Given the description of an element on the screen output the (x, y) to click on. 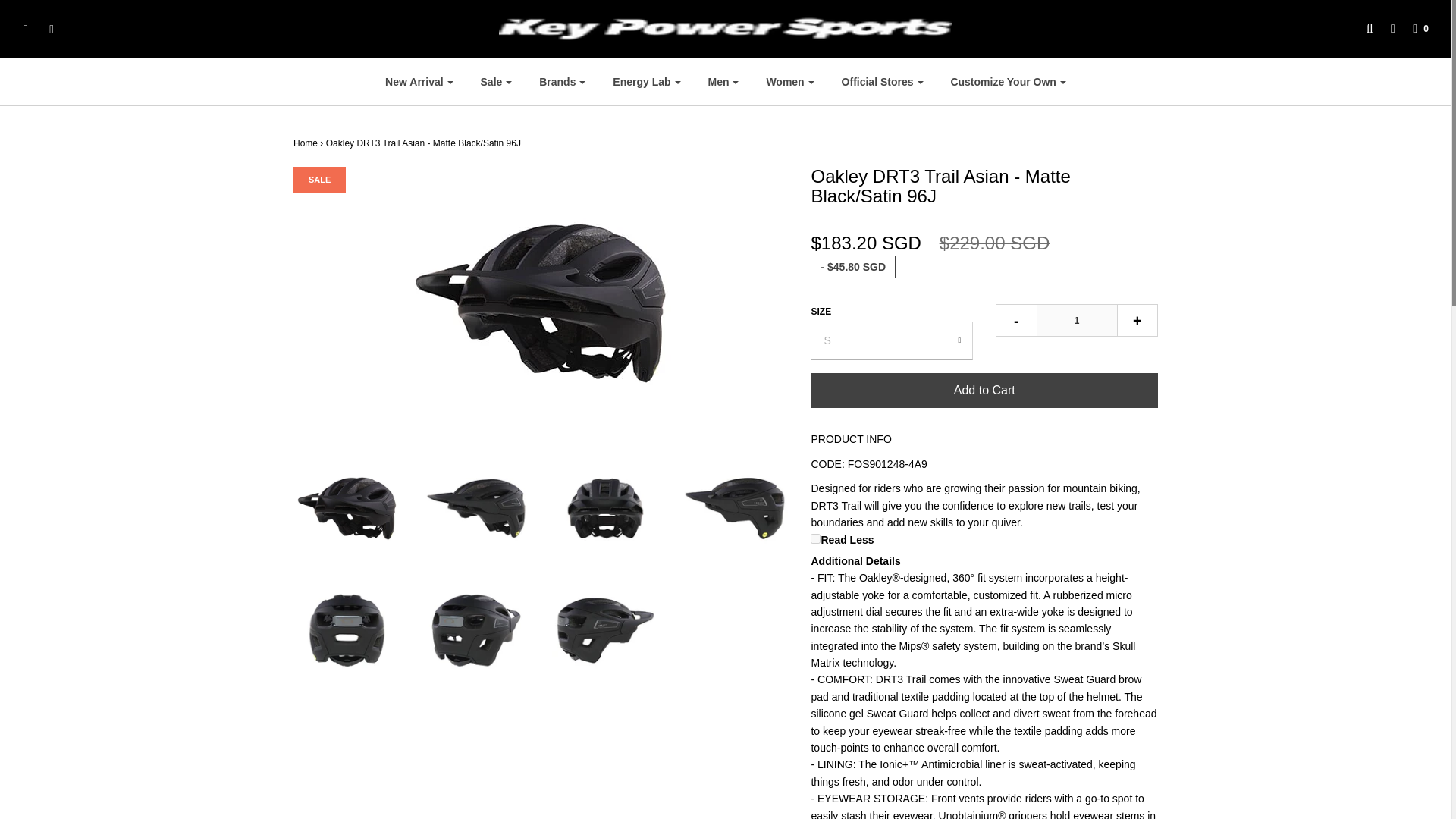
Search (1362, 28)
S (891, 340)
on (815, 538)
New Arrival (419, 81)
1 (1077, 319)
Cart (1412, 28)
Log in (1384, 28)
Brands (561, 81)
0 (1412, 28)
Back to the frontpage (305, 143)
Sale (496, 81)
